Given the description of an element on the screen output the (x, y) to click on. 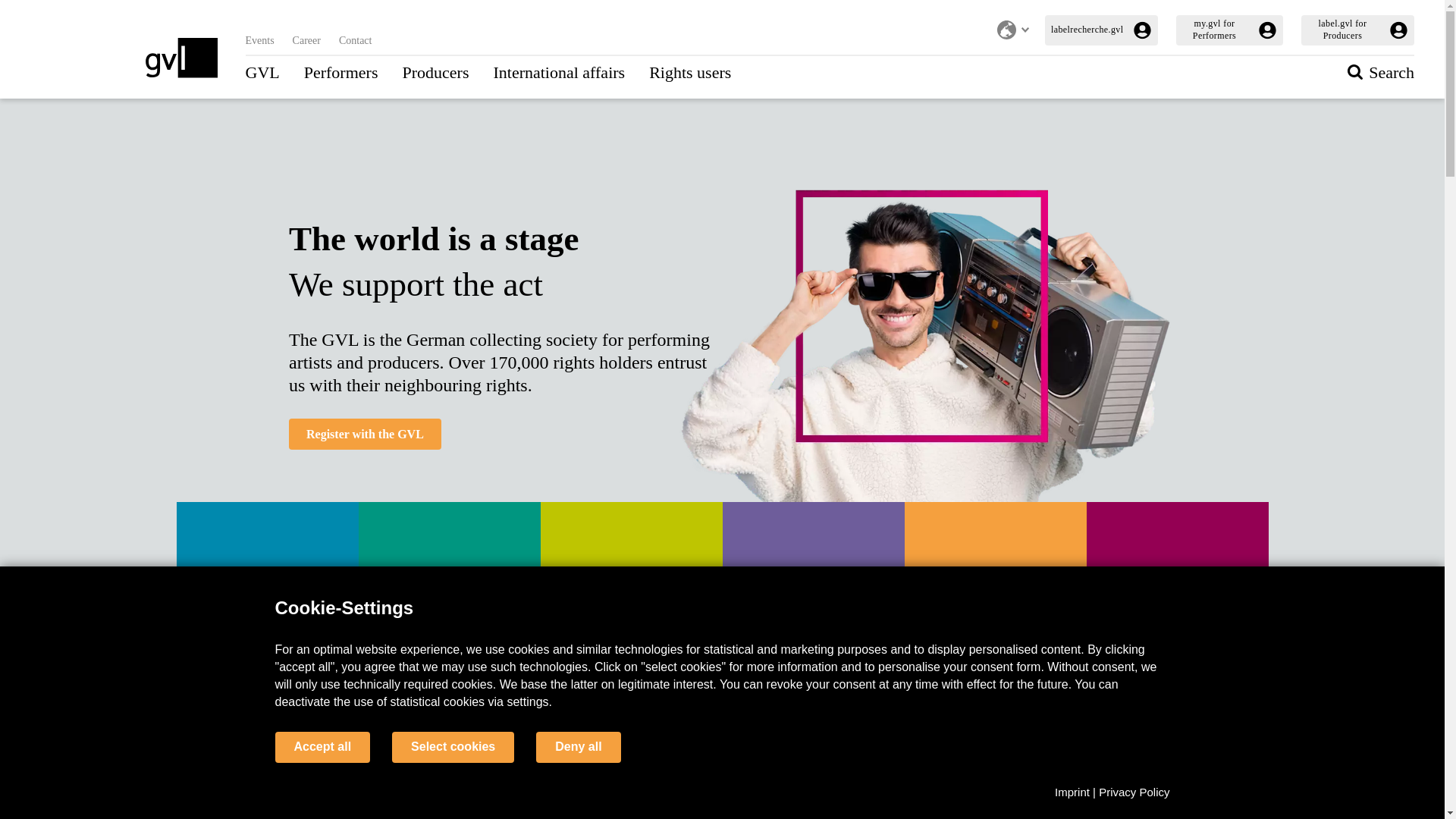
GVL (262, 72)
Contact (355, 40)
label.gvl for Producers (1357, 30)
Rights users (689, 72)
Events (260, 40)
Performers (341, 72)
Producers (434, 72)
Career (306, 40)
my.gvl for Performers (1229, 30)
Search (1380, 72)
International affairs (558, 72)
labelrecherche.gvl (1101, 30)
